Given the description of an element on the screen output the (x, y) to click on. 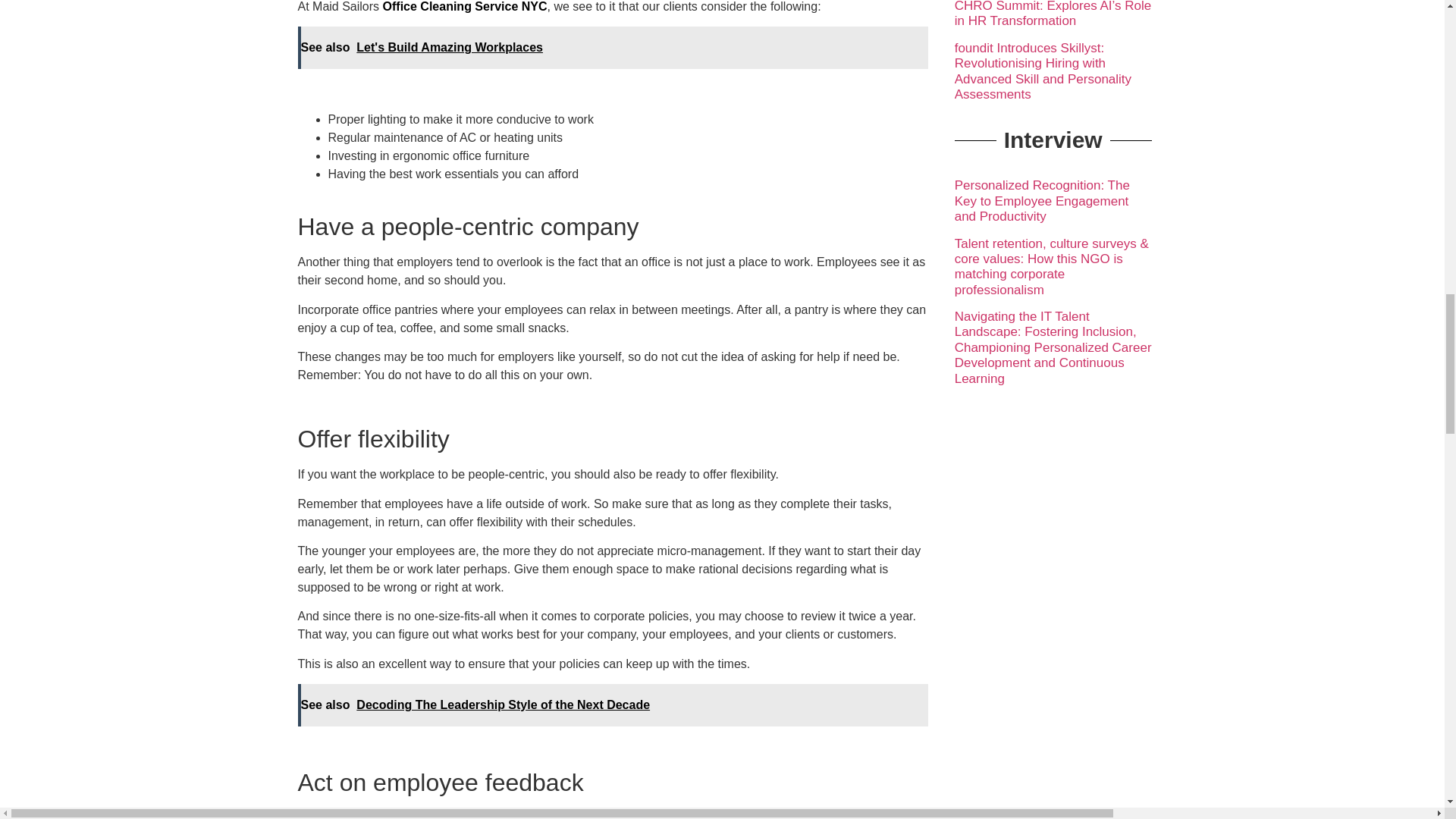
Office Cleaning Service NYC (464, 6)
See also  Decoding The Leadership Style of the Next Decade (612, 704)
See also  Let's Build Amazing Workplaces (612, 47)
